Given the description of an element on the screen output the (x, y) to click on. 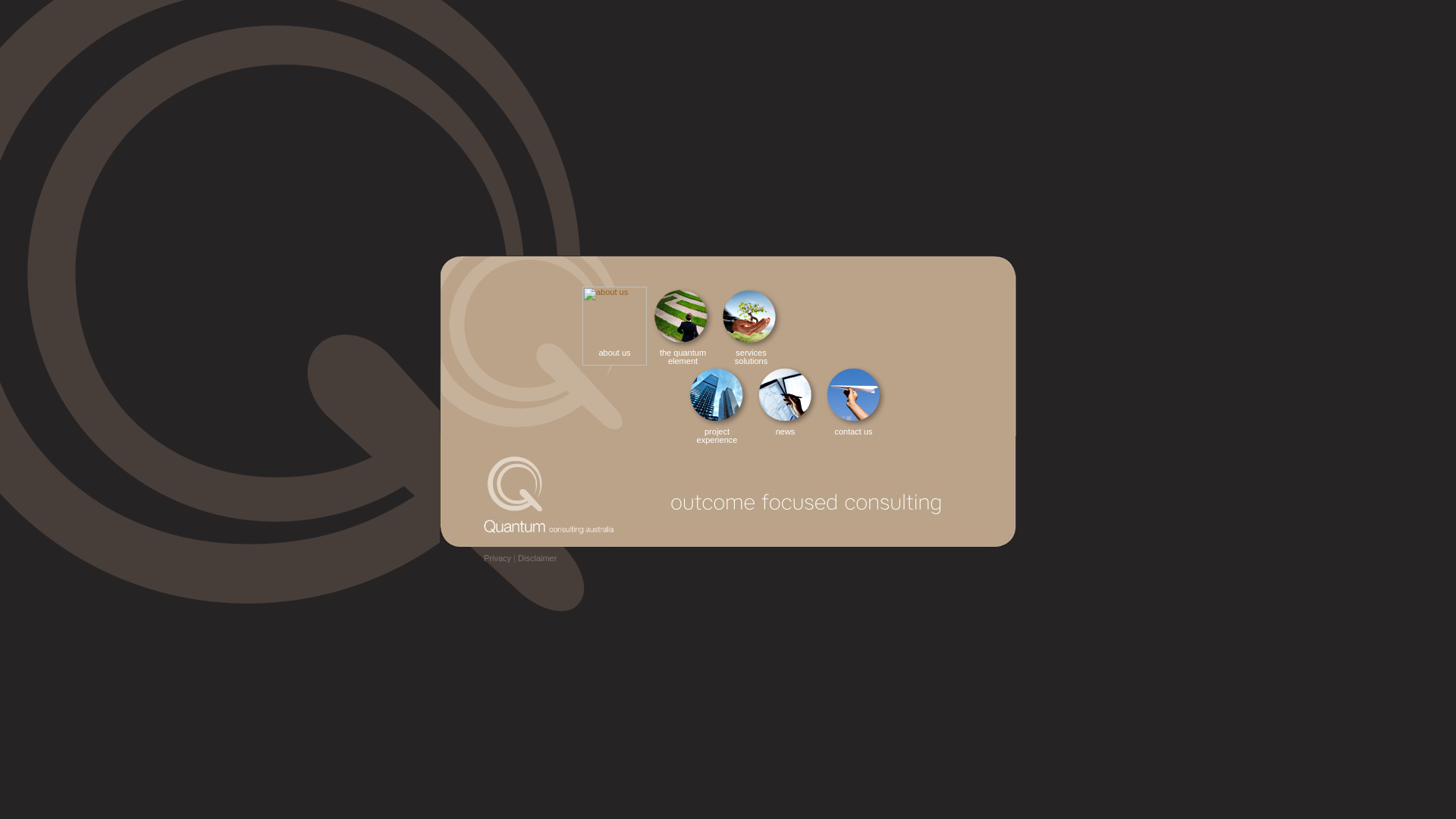
Disclaimer Element type: text (536, 557)
contact us Element type: text (851, 400)
services solutions Element type: text (748, 325)
project experience Element type: text (714, 400)
news Element type: text (782, 400)
about us Element type: text (612, 325)
Privacy Element type: text (497, 557)
the quantum element Element type: text (680, 325)
